Given the description of an element on the screen output the (x, y) to click on. 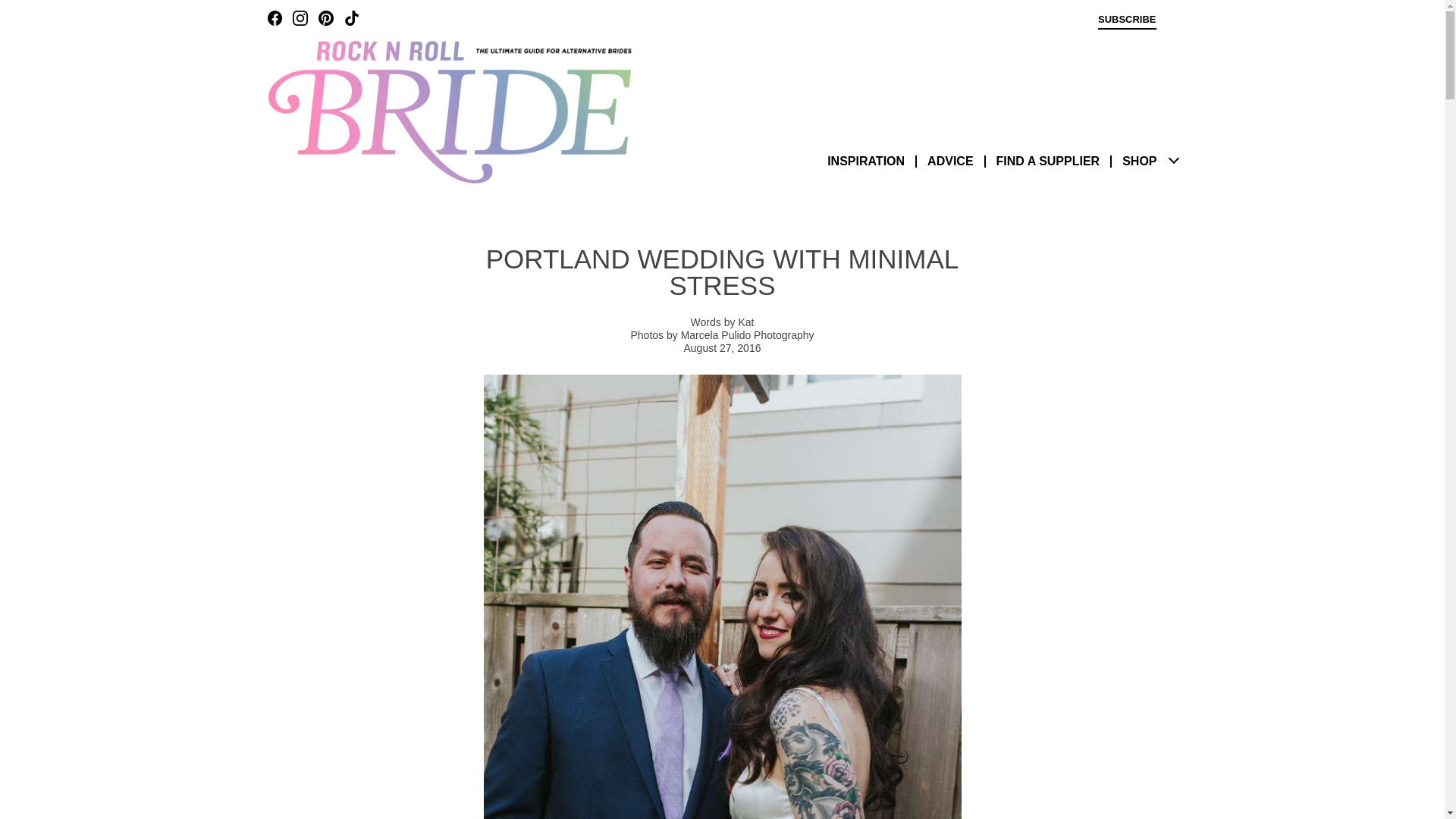
ADVICE (949, 160)
Posts by Kat (746, 322)
Marcela Pulido Photography (747, 335)
SUBSCRIBE (1126, 21)
Subscribe (1126, 21)
Rock n Roll Bride (448, 111)
FIND A SUPPLIER (1047, 160)
INSPIRATION (865, 160)
SHOP (1139, 160)
Kat (746, 322)
